Given the description of an element on the screen output the (x, y) to click on. 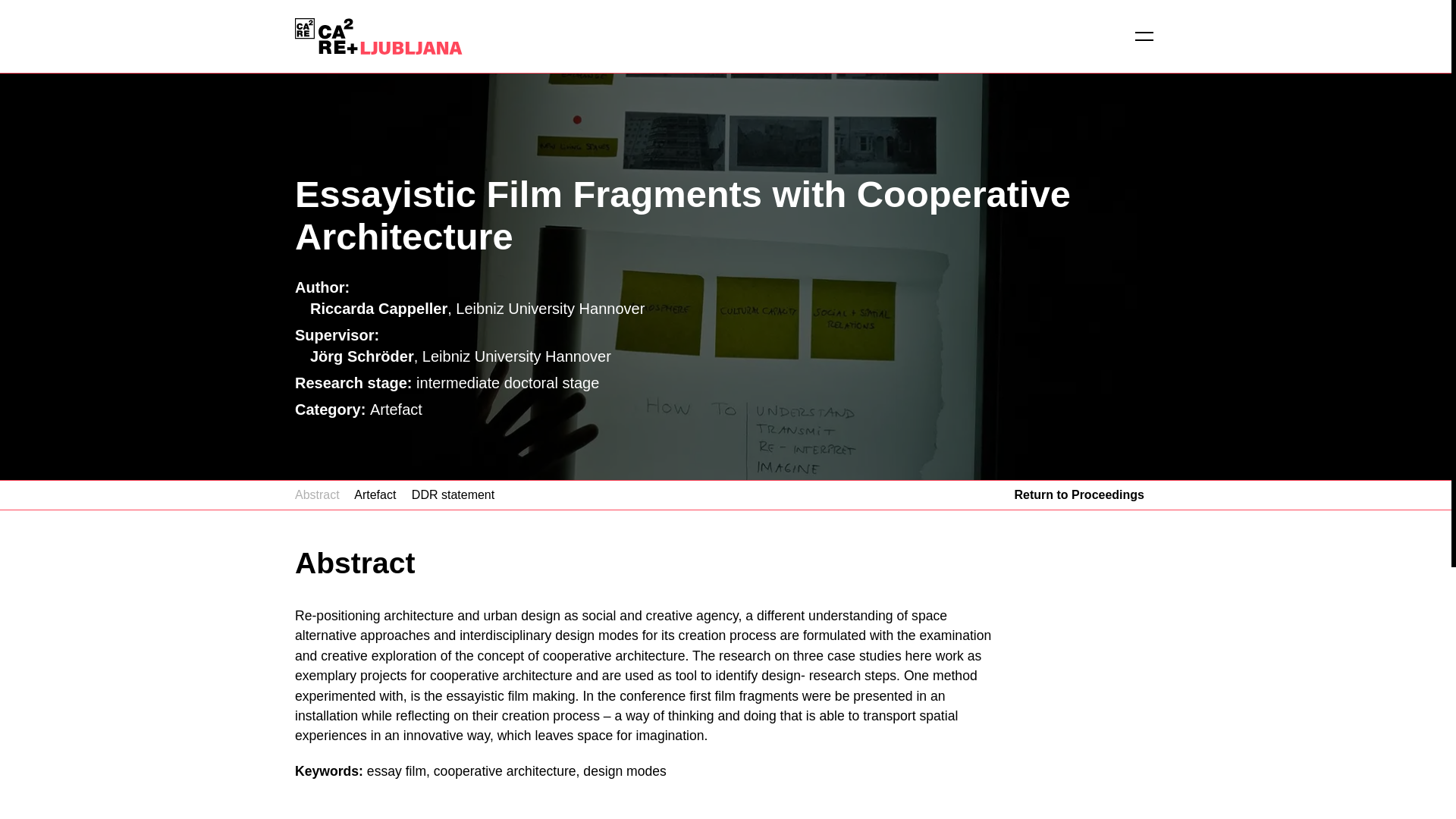
DDR statement (453, 494)
Artefact (374, 494)
Abstract (317, 494)
Return to Proceedings (1078, 494)
